Given the description of an element on the screen output the (x, y) to click on. 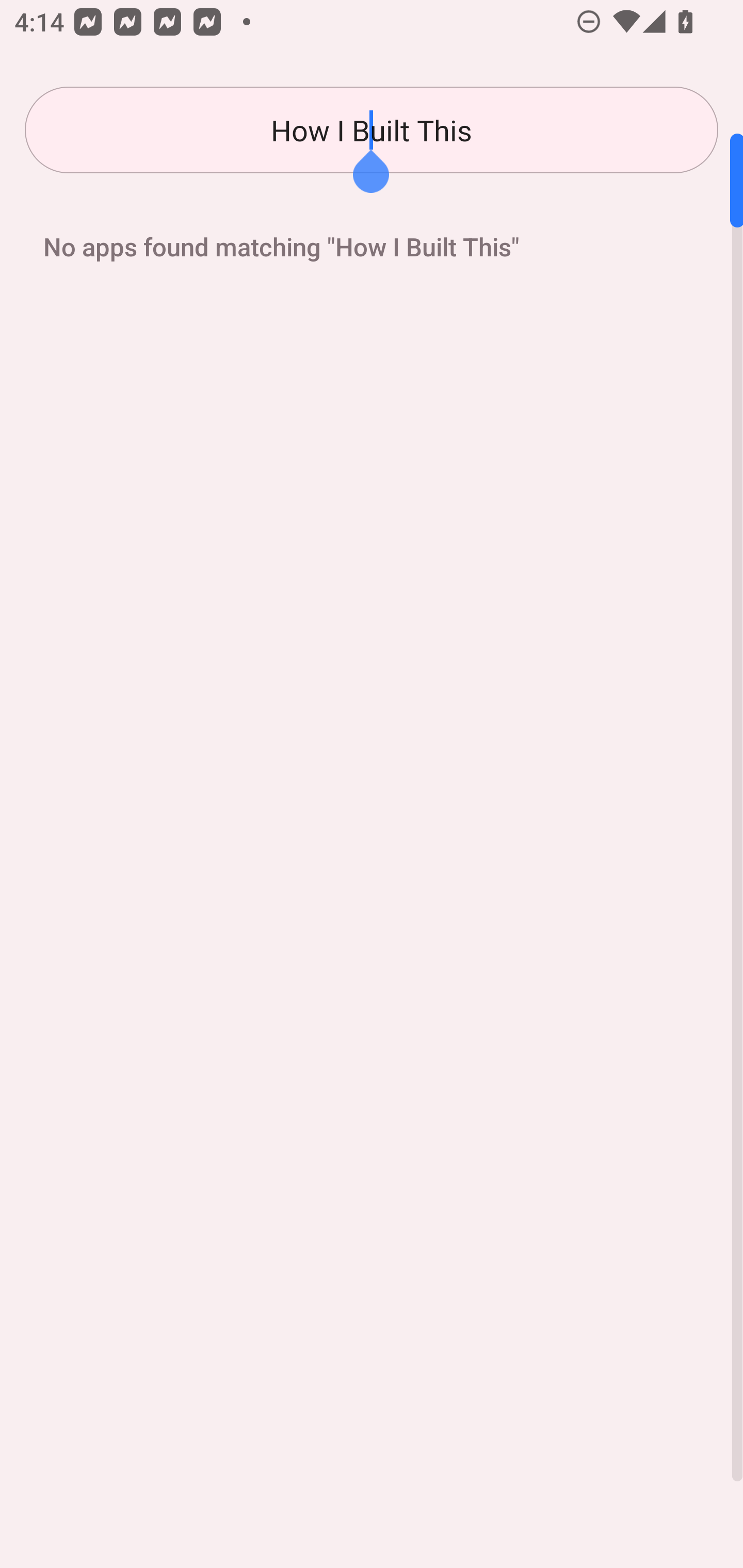
How I Built This (371, 130)
